Given the description of an element on the screen output the (x, y) to click on. 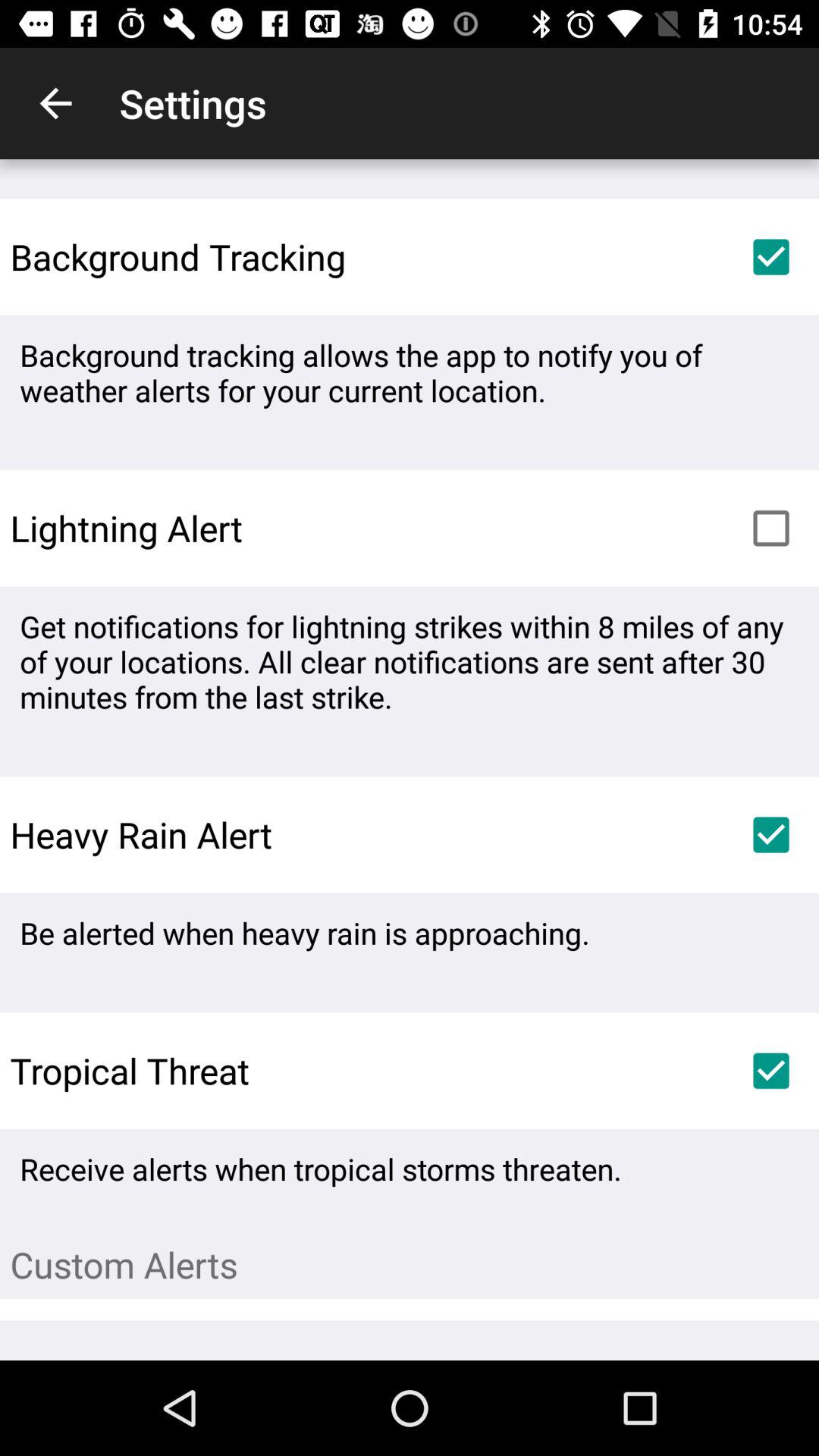
launch the item below the background tracking allows icon (771, 528)
